Given the description of an element on the screen output the (x, y) to click on. 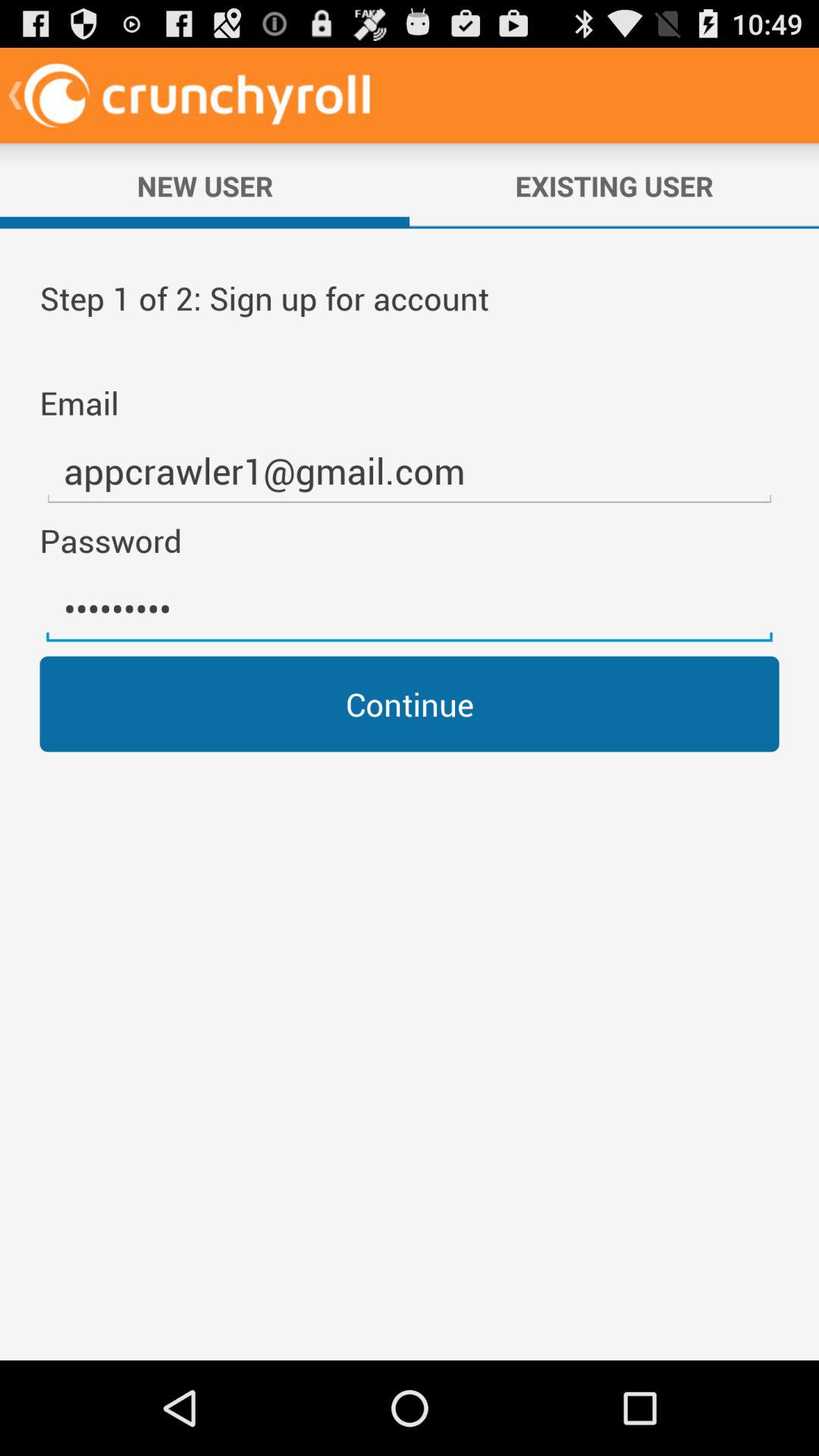
press item below email item (409, 471)
